Given the description of an element on the screen output the (x, y) to click on. 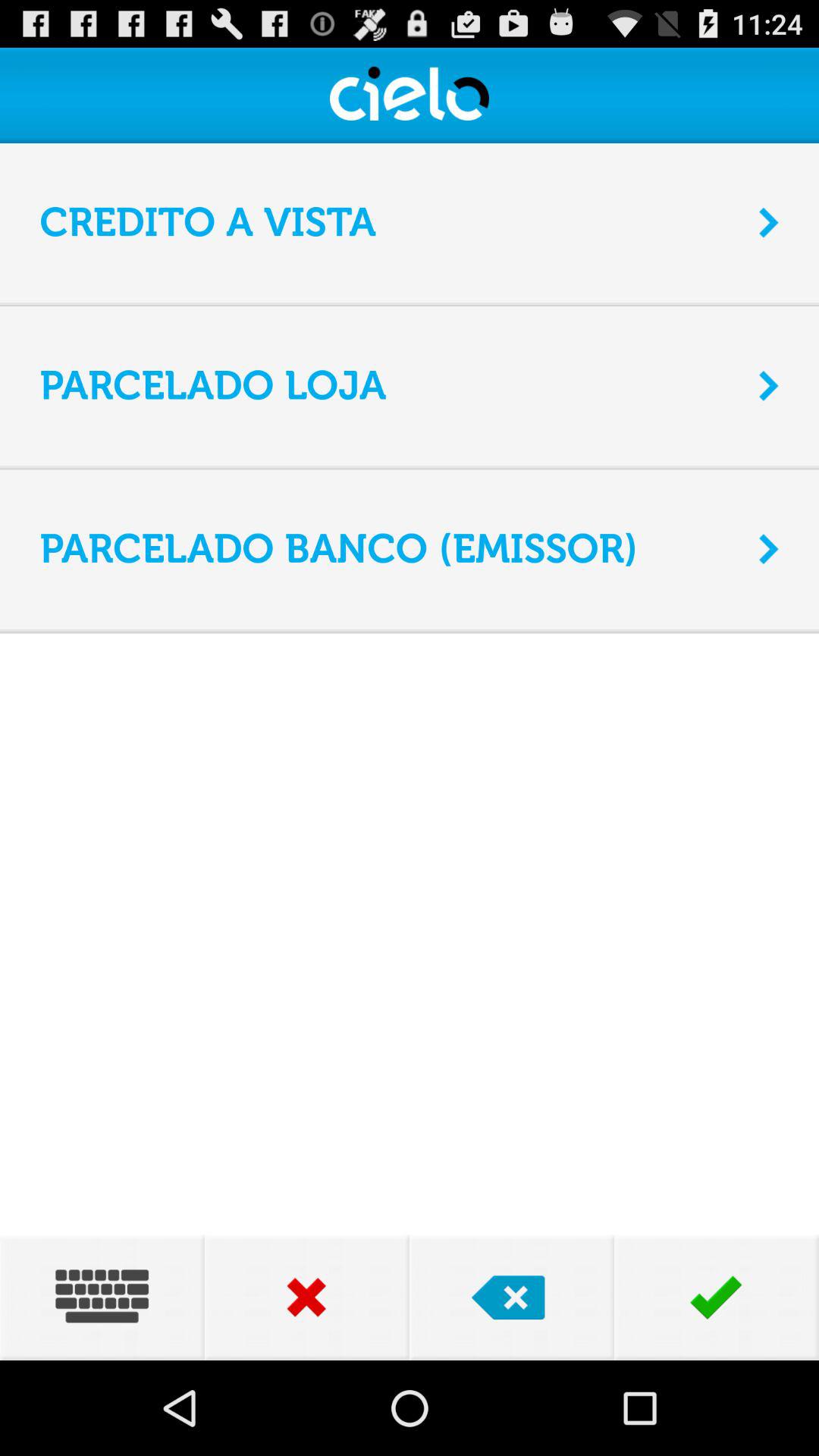
press icon below credito a vista item (409, 303)
